Given the description of an element on the screen output the (x, y) to click on. 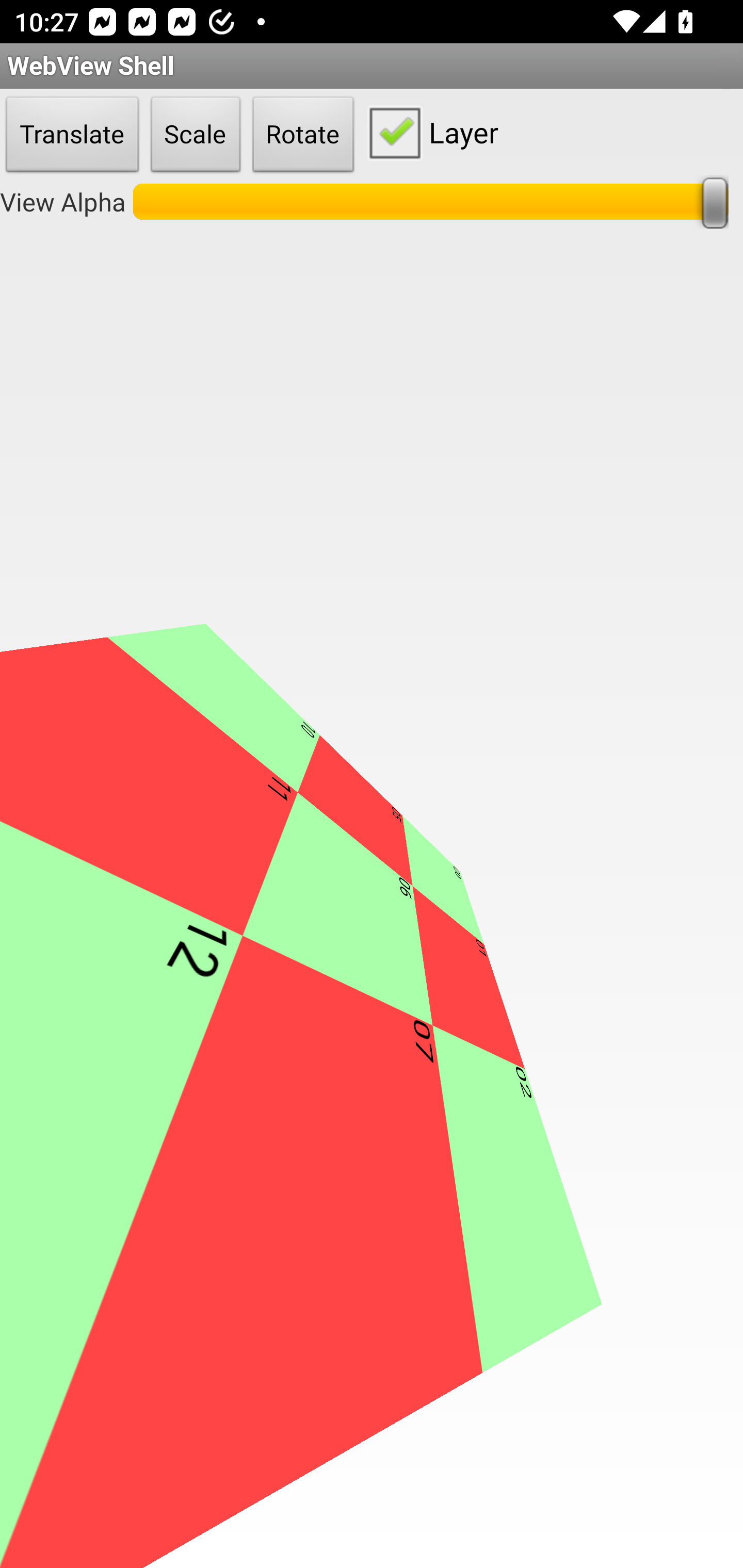
Layer (429, 132)
Translate (72, 135)
Scale (195, 135)
Rotate (303, 135)
